Given the description of an element on the screen output the (x, y) to click on. 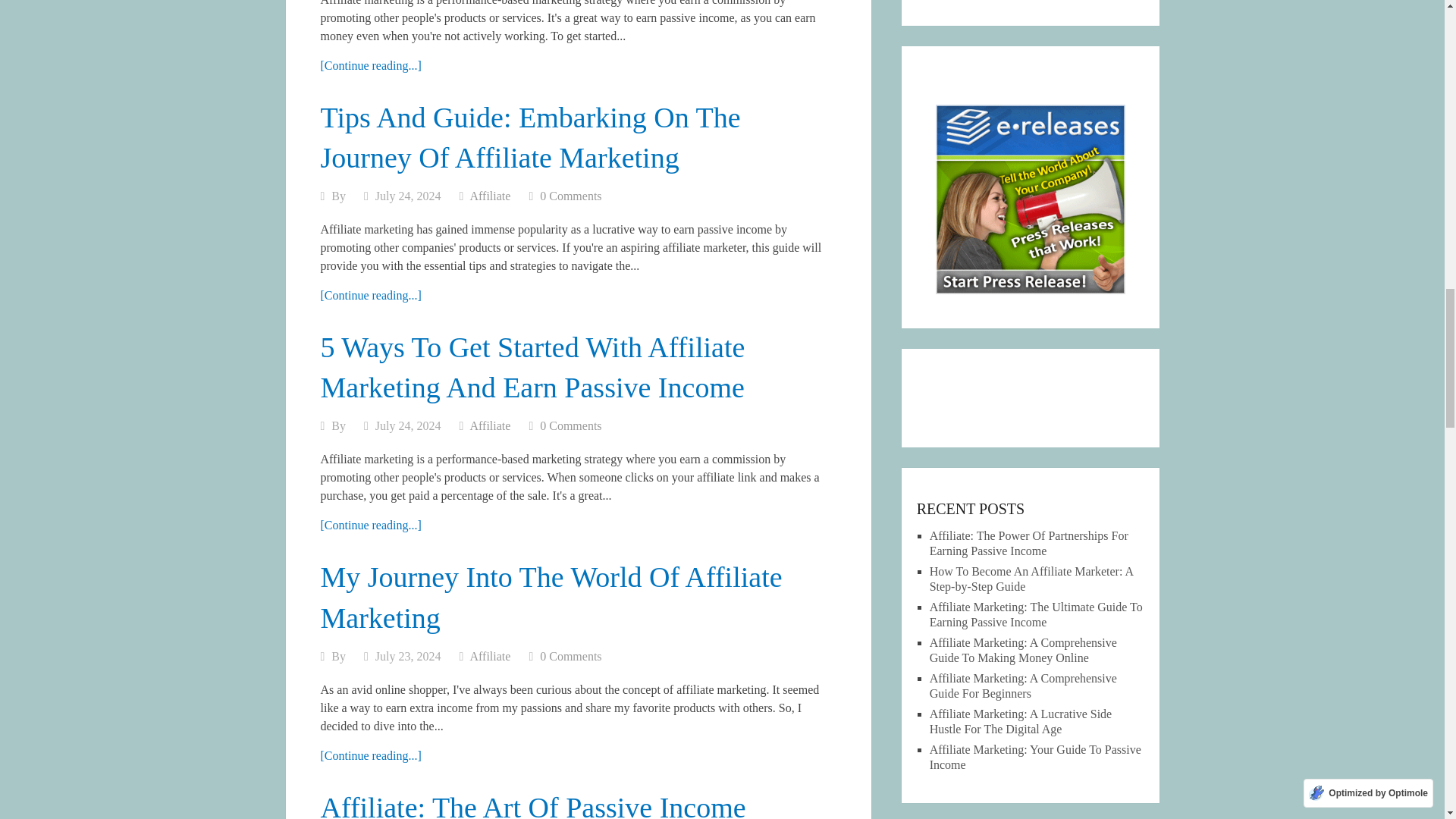
Affiliate Marketing: Your Guide To Passive Income (370, 65)
0 Comments (570, 195)
Affiliate (490, 195)
